Given the description of an element on the screen output the (x, y) to click on. 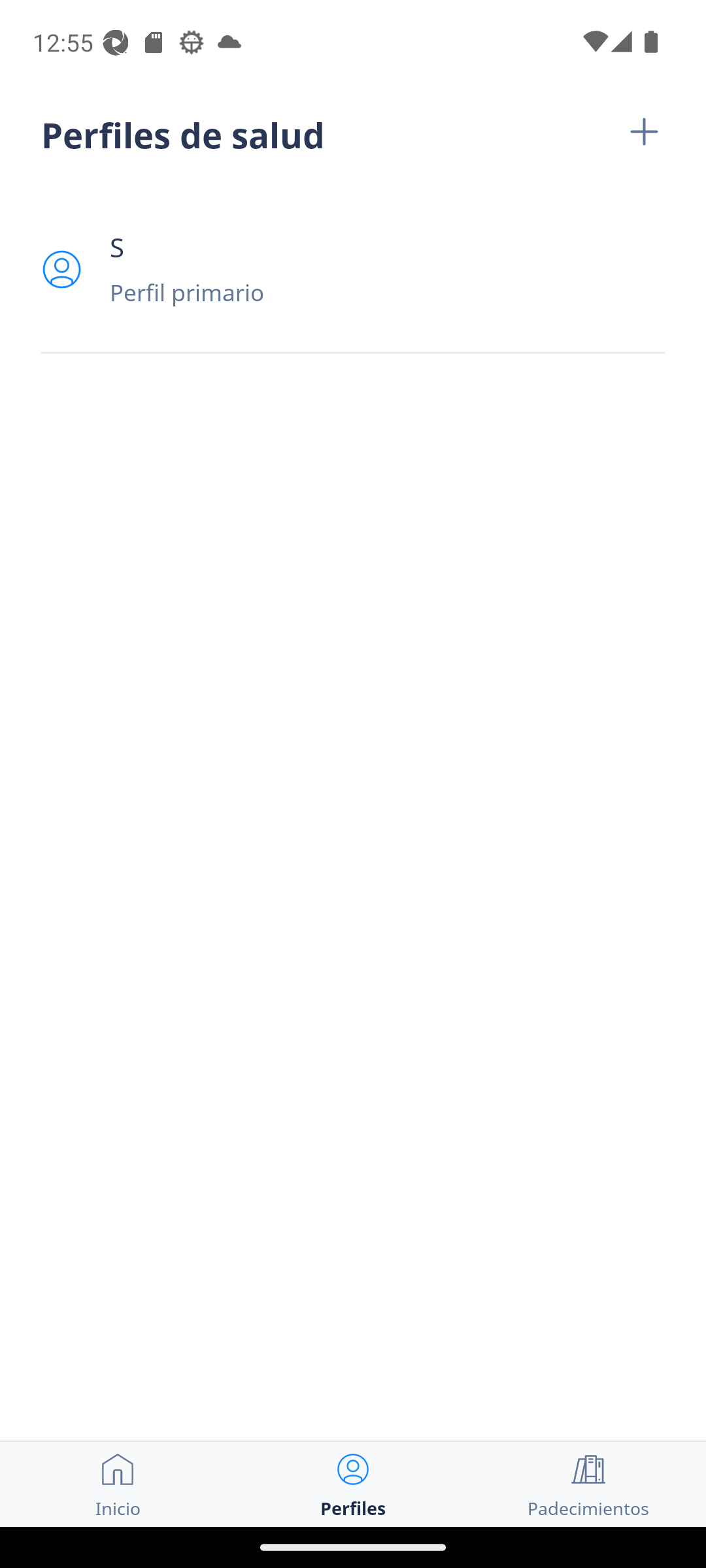
S Perfil primario (352, 269)
Inicio (117, 1484)
Perfiles (352, 1484)
Padecimientos (588, 1484)
